Given the description of an element on the screen output the (x, y) to click on. 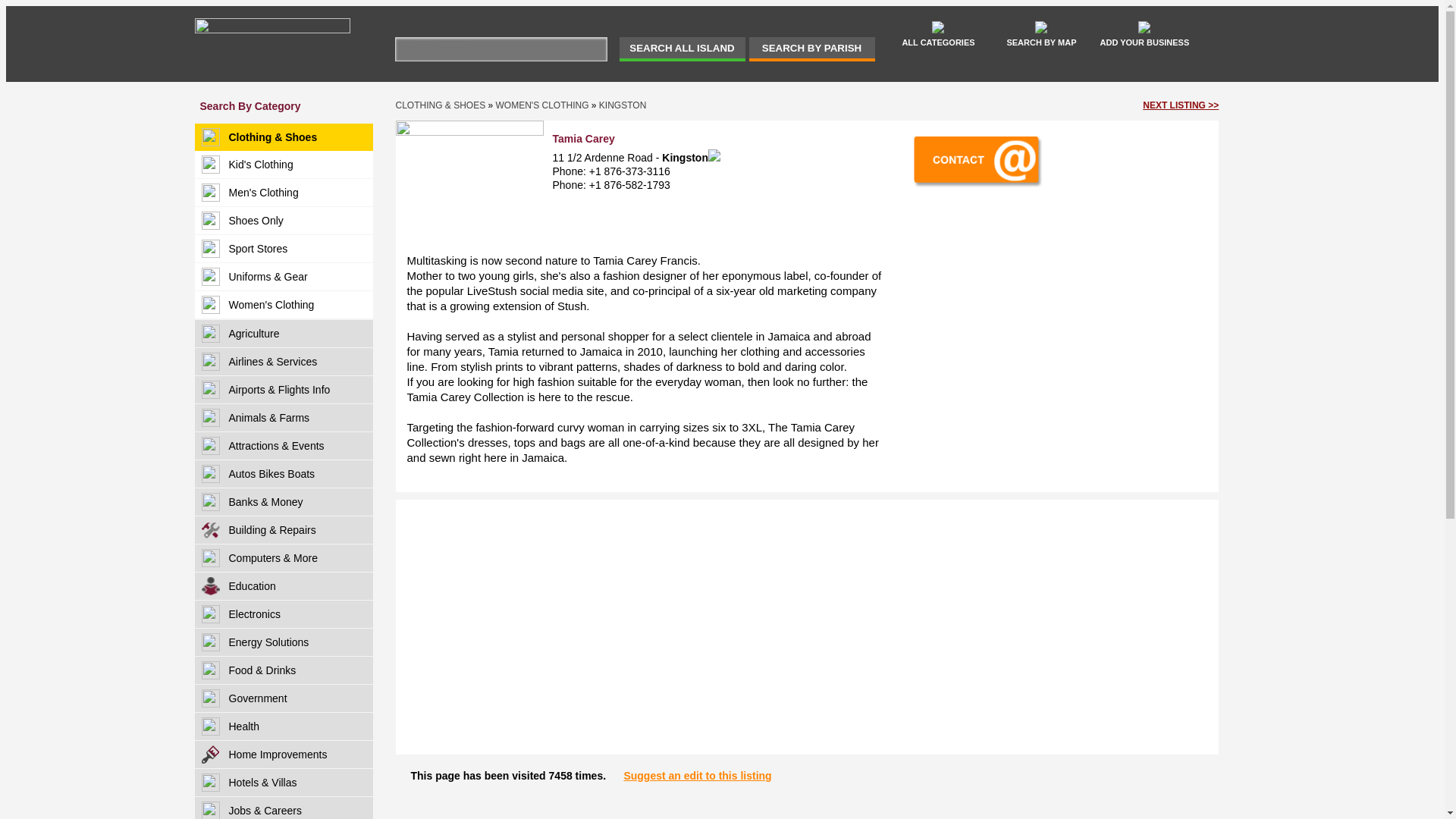
ADD YOUR BUSINESS (1144, 32)
ALL CATEGORIES (938, 32)
SEARCH BY MAP (1041, 32)
SEARCH BY PARISH (812, 48)
SEARCH ALL ISLAND (681, 48)
